Given the description of an element on the screen output the (x, y) to click on. 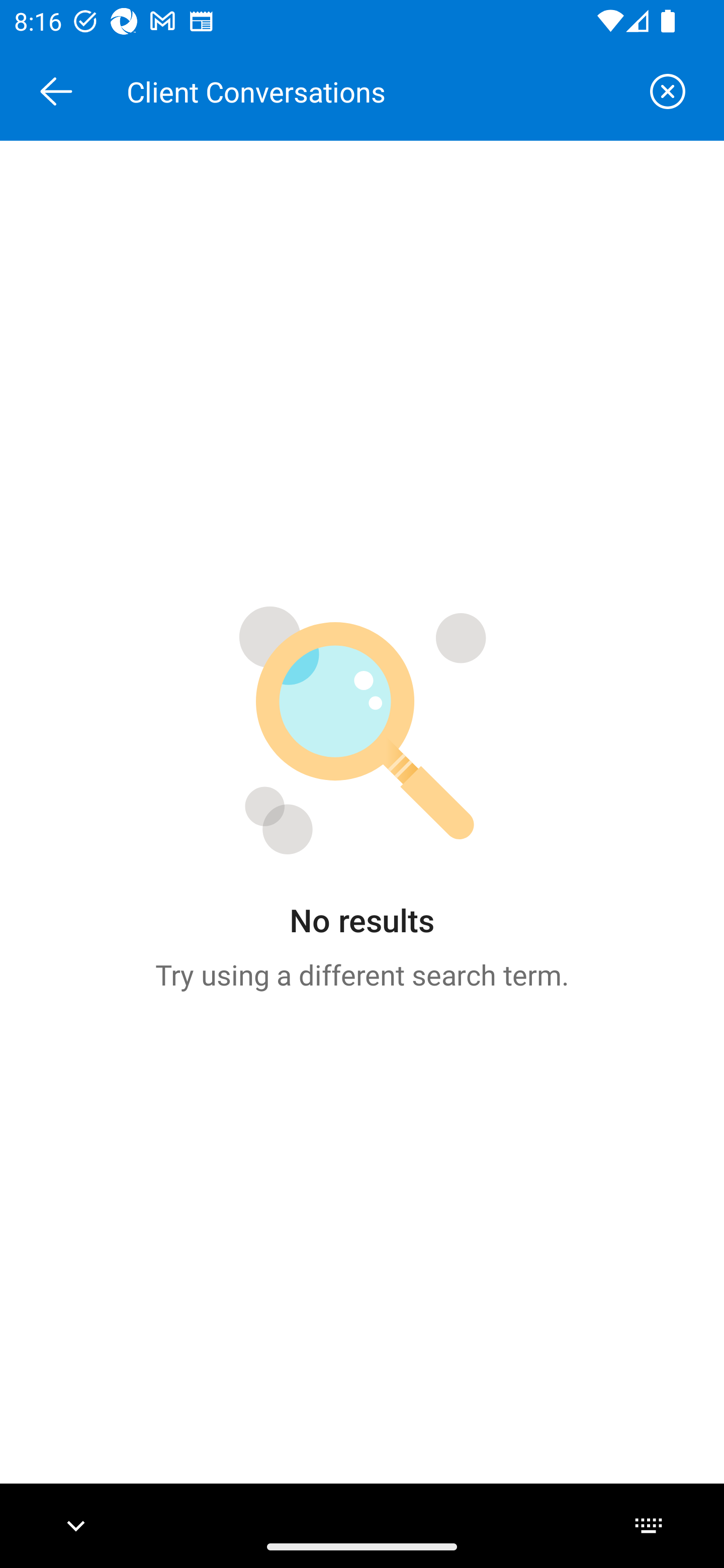
Back (55, 91)
Client Conversations (375, 91)
clear search (667, 91)
